Given the description of an element on the screen output the (x, y) to click on. 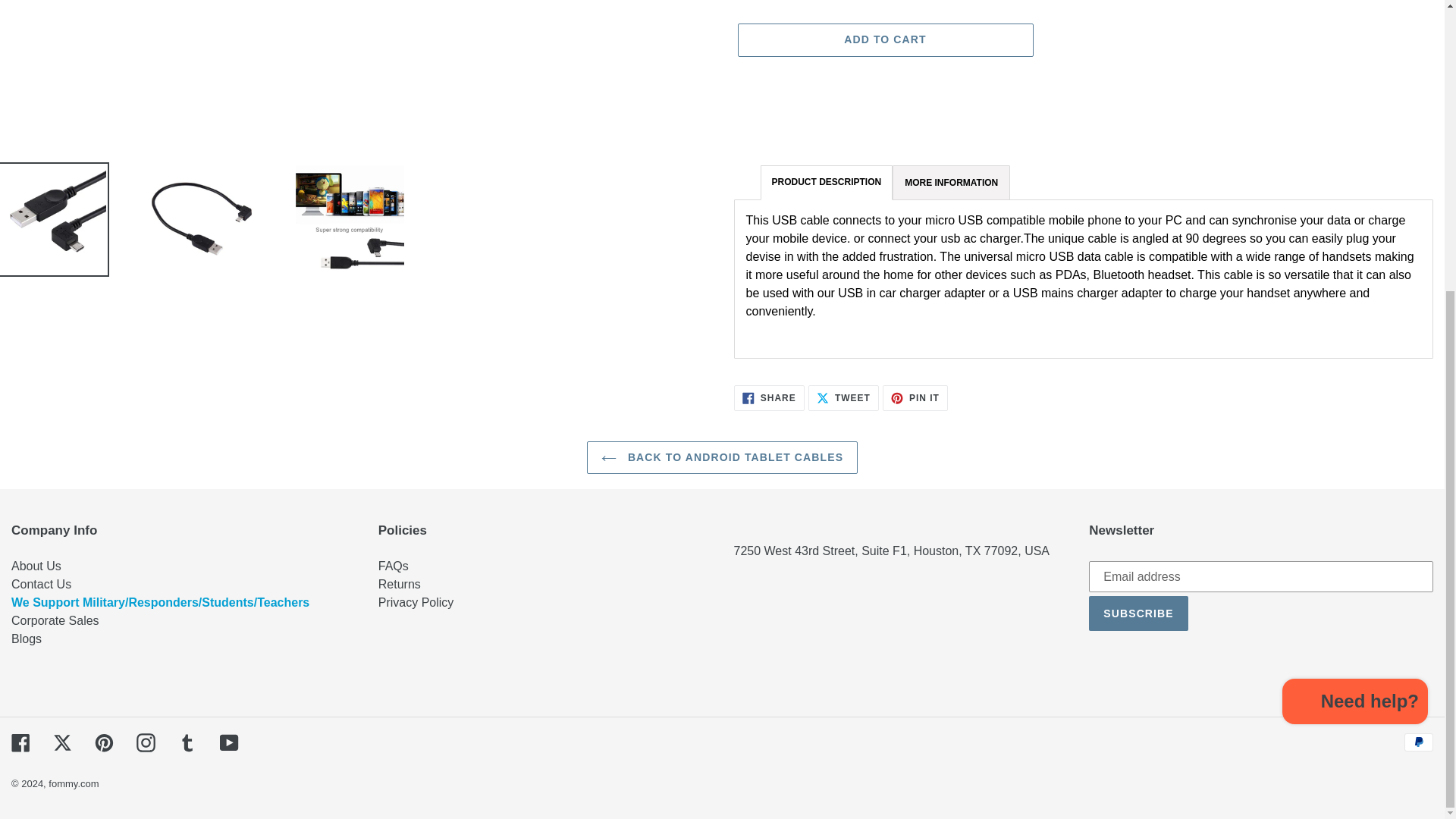
Shopify online store chat (1355, 260)
